Given the description of an element on the screen output the (x, y) to click on. 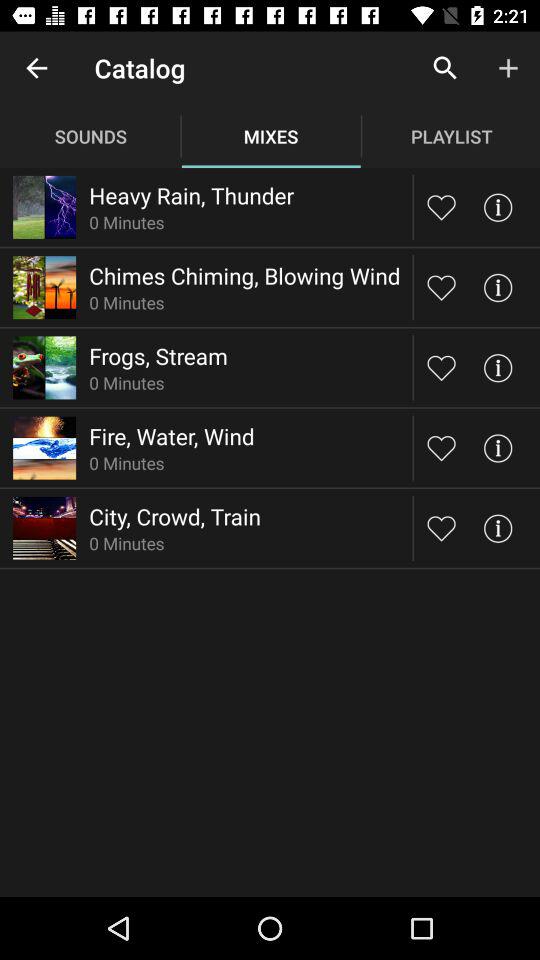
add chimes chiming blowing wind to favorites (441, 287)
